Given the description of an element on the screen output the (x, y) to click on. 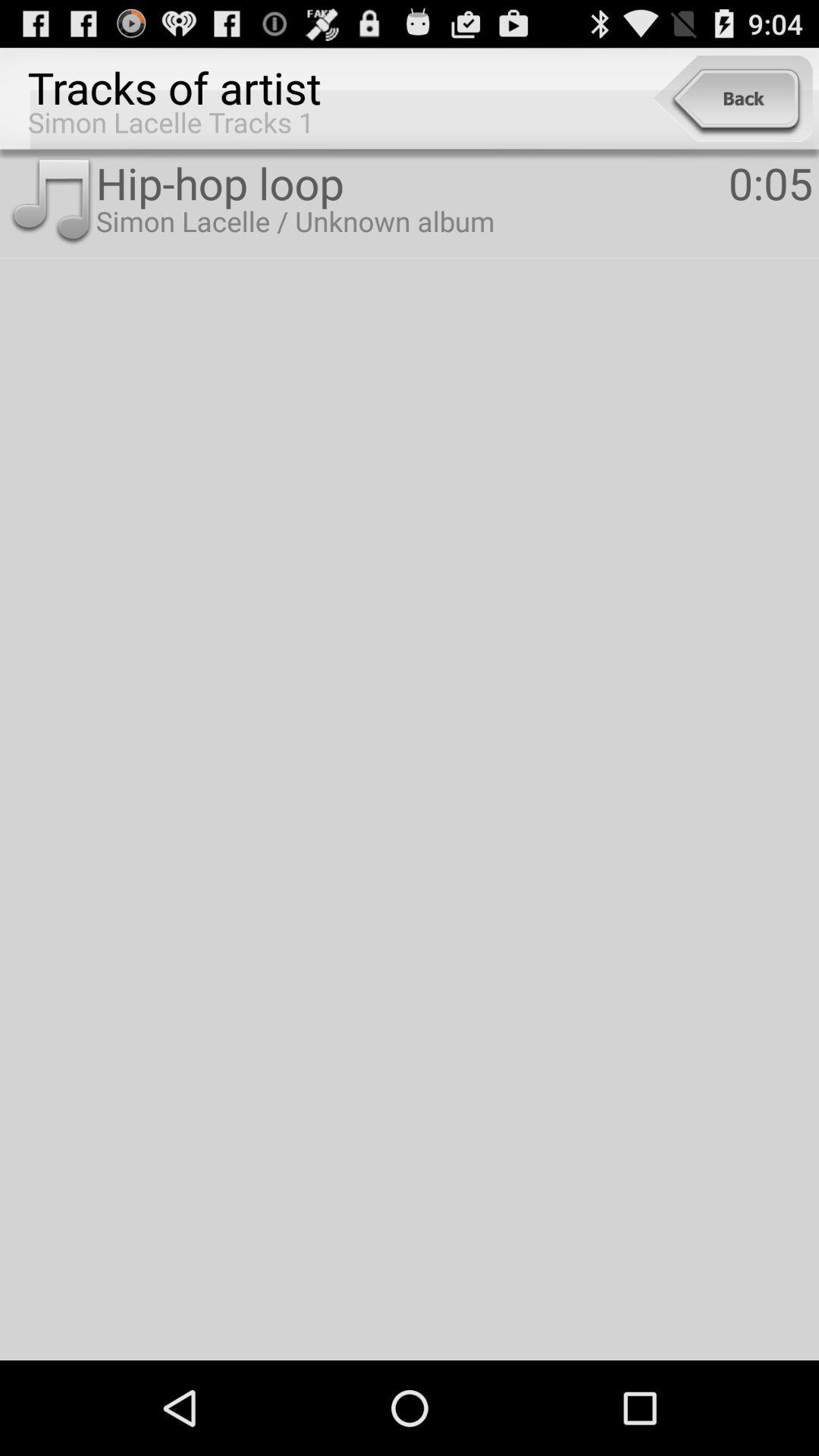
turn on hip-hop loop (412, 182)
